Given the description of an element on the screen output the (x, y) to click on. 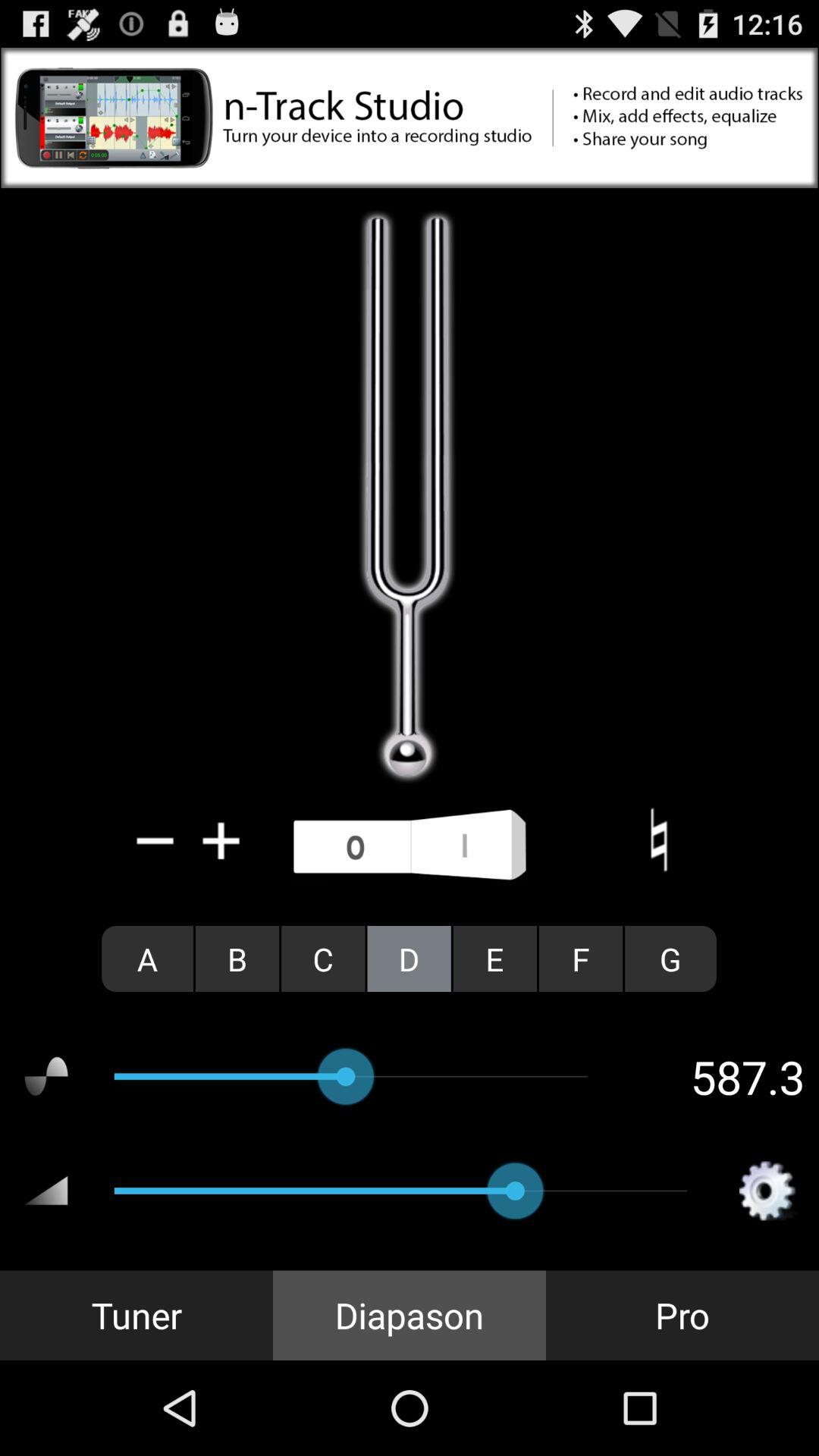
click the item to the right of c item (409, 958)
